Given the description of an element on the screen output the (x, y) to click on. 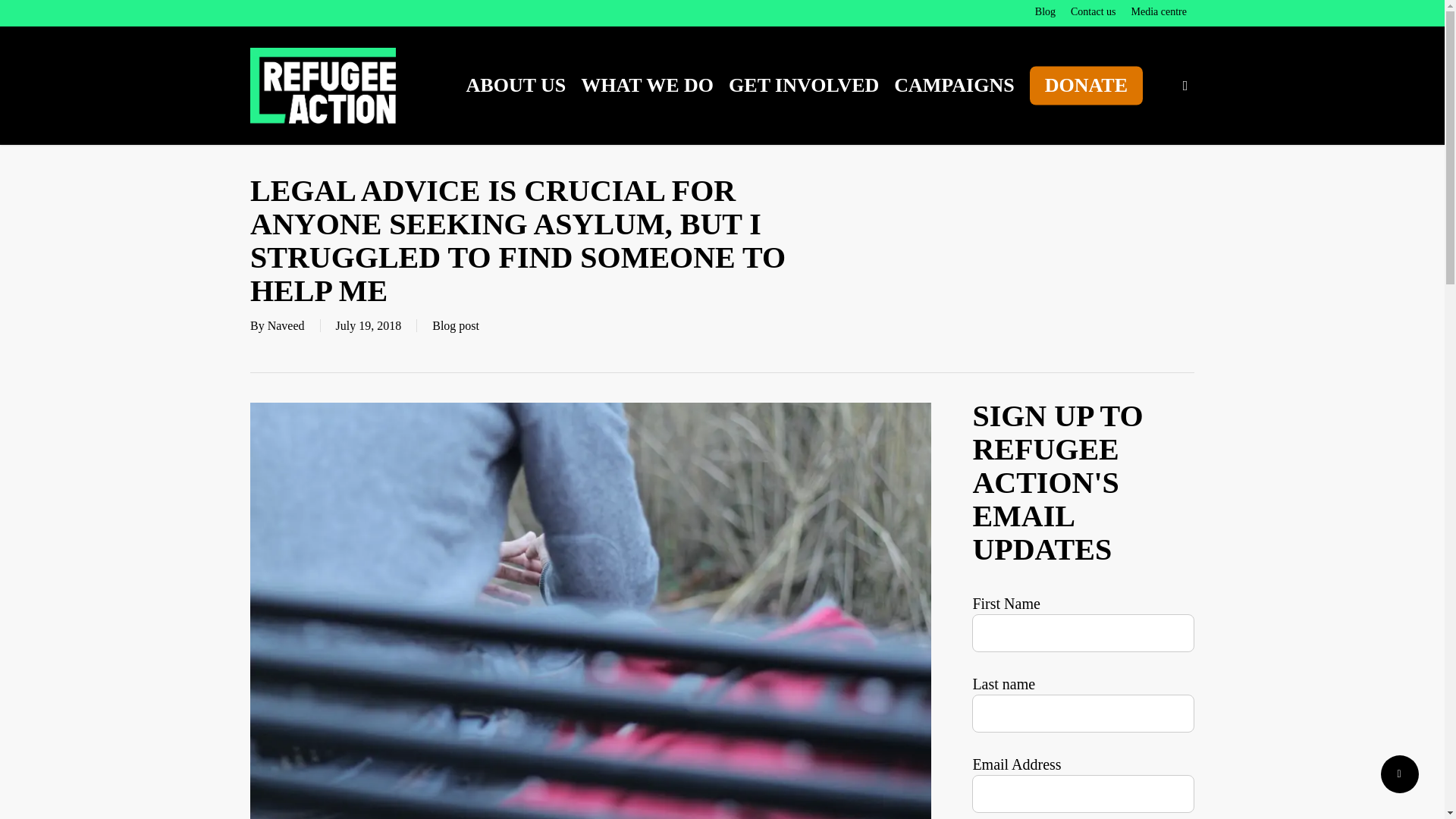
Posts by Naveed (285, 325)
ABOUT US (515, 85)
CAMPAIGNS (954, 85)
Blog (1044, 11)
Media centre (1158, 11)
GET INVOLVED (803, 85)
Contact us (1093, 11)
WHAT WE DO (646, 85)
